Given the description of an element on the screen output the (x, y) to click on. 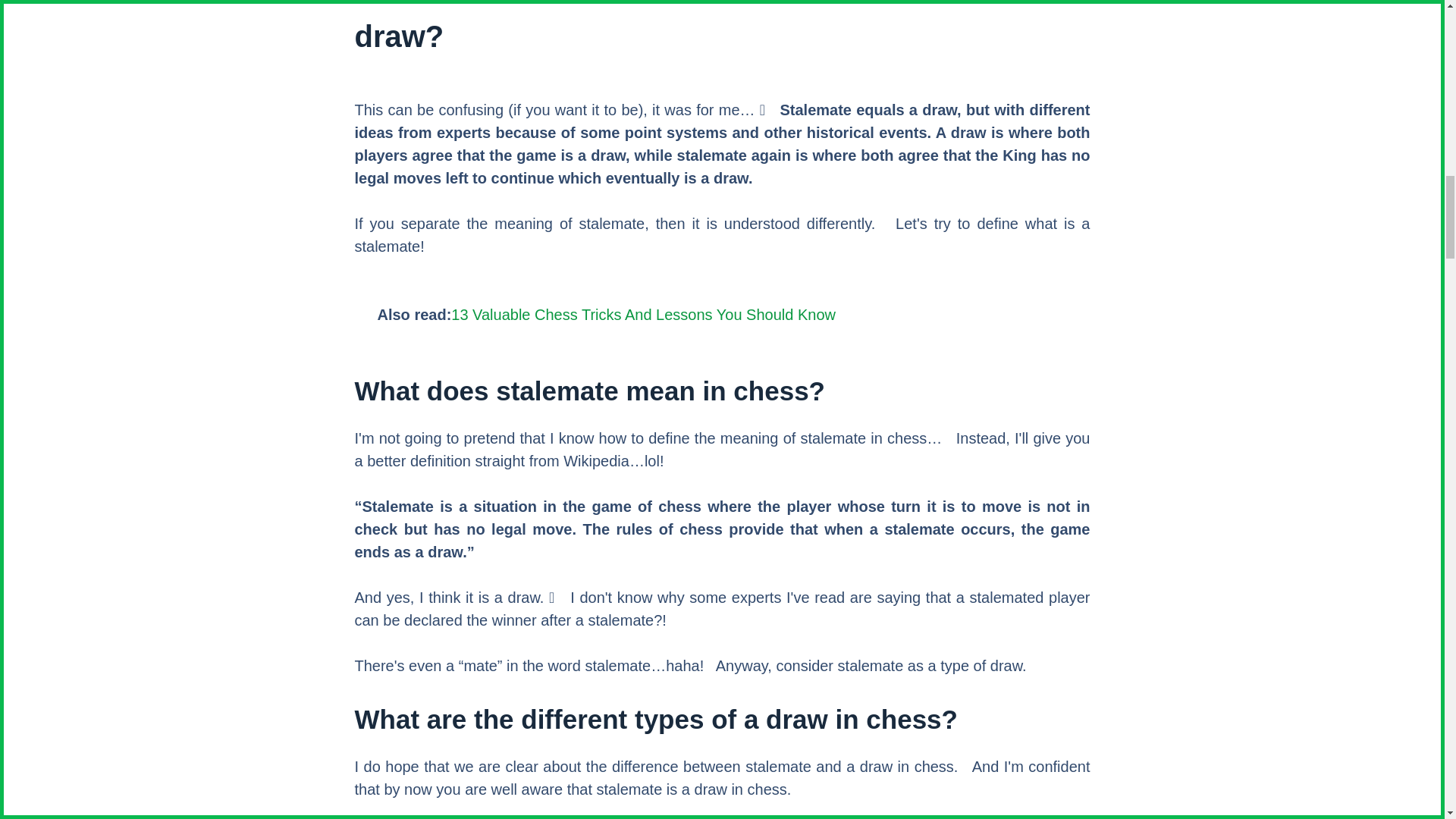
13 Valuable Chess Tricks And Lessons You Should Know (643, 314)
